Given the description of an element on the screen output the (x, y) to click on. 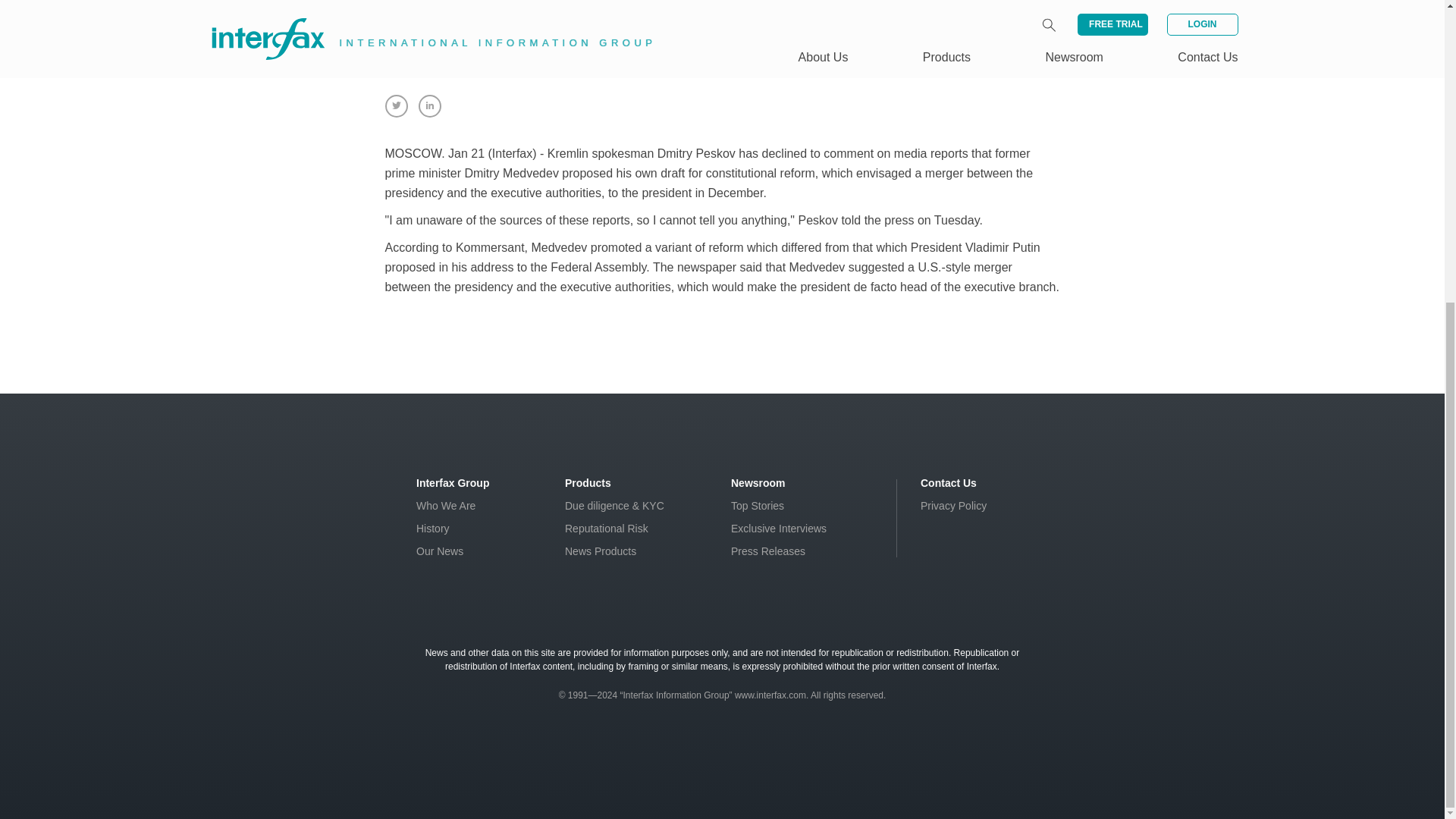
Interfax Group (452, 482)
Who We Are (446, 505)
Our News (439, 551)
History (432, 528)
